Given the description of an element on the screen output the (x, y) to click on. 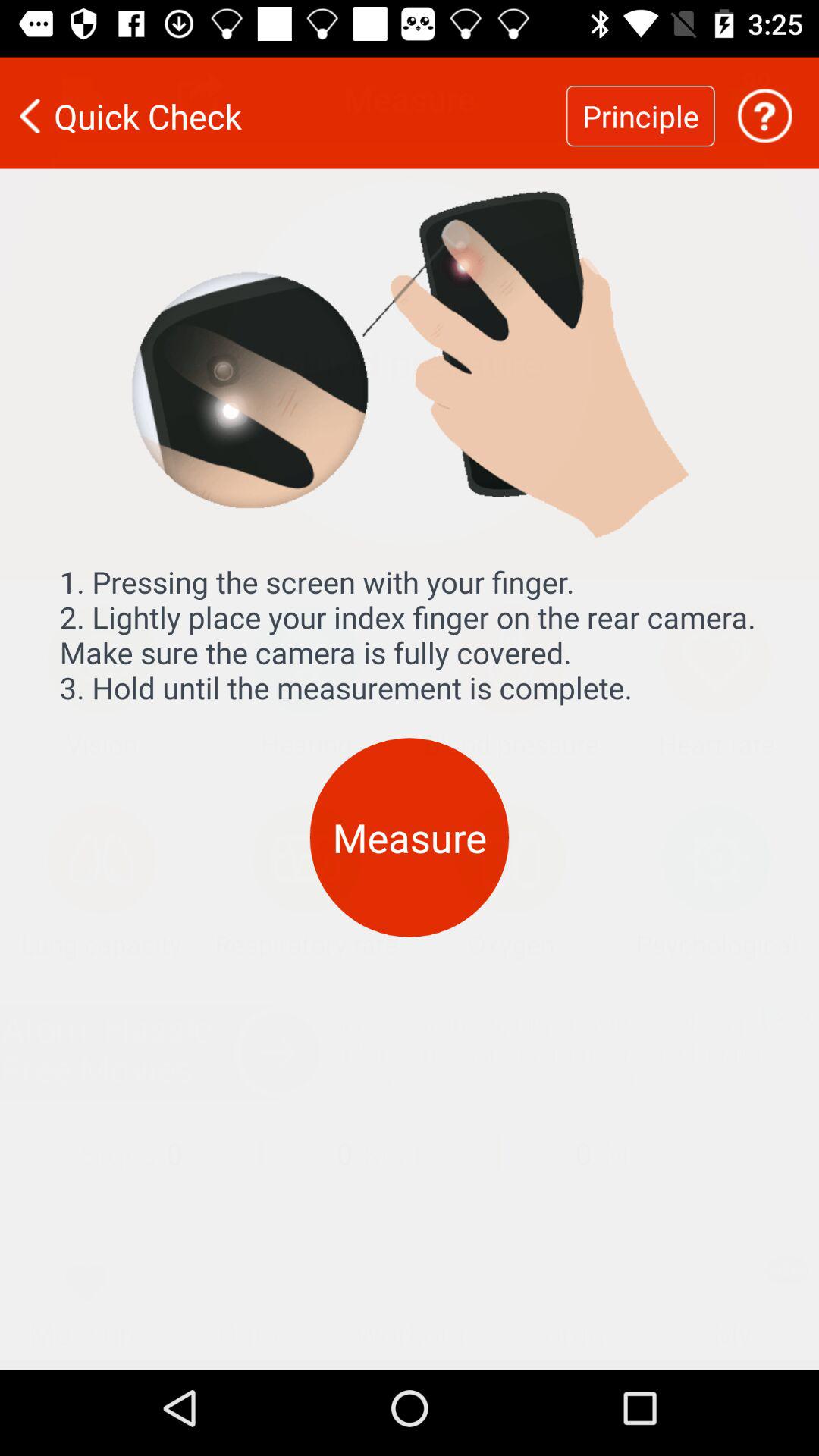
jump to quick check item (283, 106)
